Given the description of an element on the screen output the (x, y) to click on. 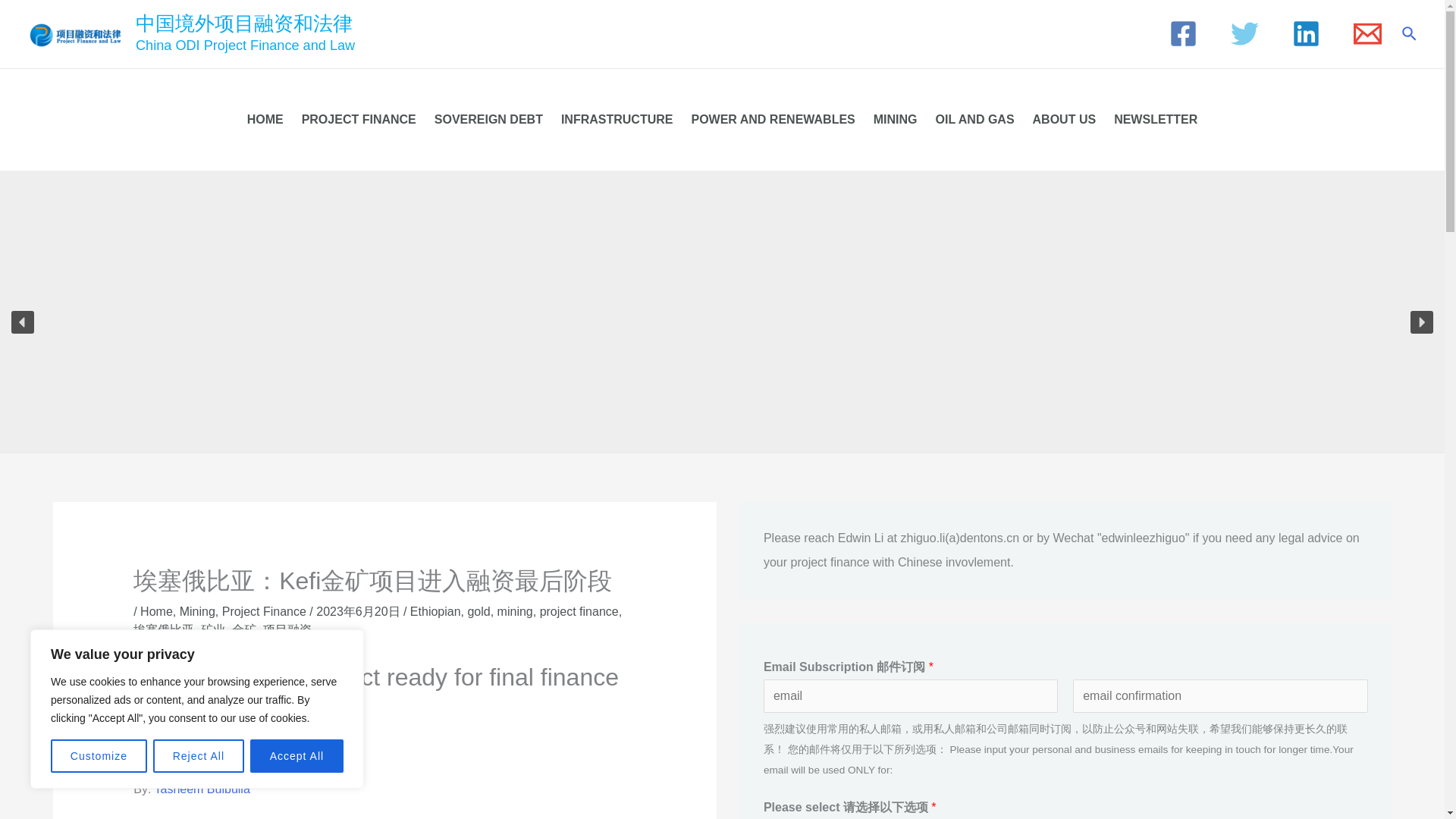
NEWSLETTER (1156, 119)
SOVEREIGN DEBT (488, 119)
PROJECT FINANCE (358, 119)
Reject All (198, 756)
OIL AND GAS (974, 119)
Customize (98, 756)
Accept All (296, 756)
POWER AND RENEWABLES (772, 119)
Home (156, 611)
Mining (197, 611)
Project Finance (263, 611)
INFRASTRUCTURE (616, 119)
